Given the description of an element on the screen output the (x, y) to click on. 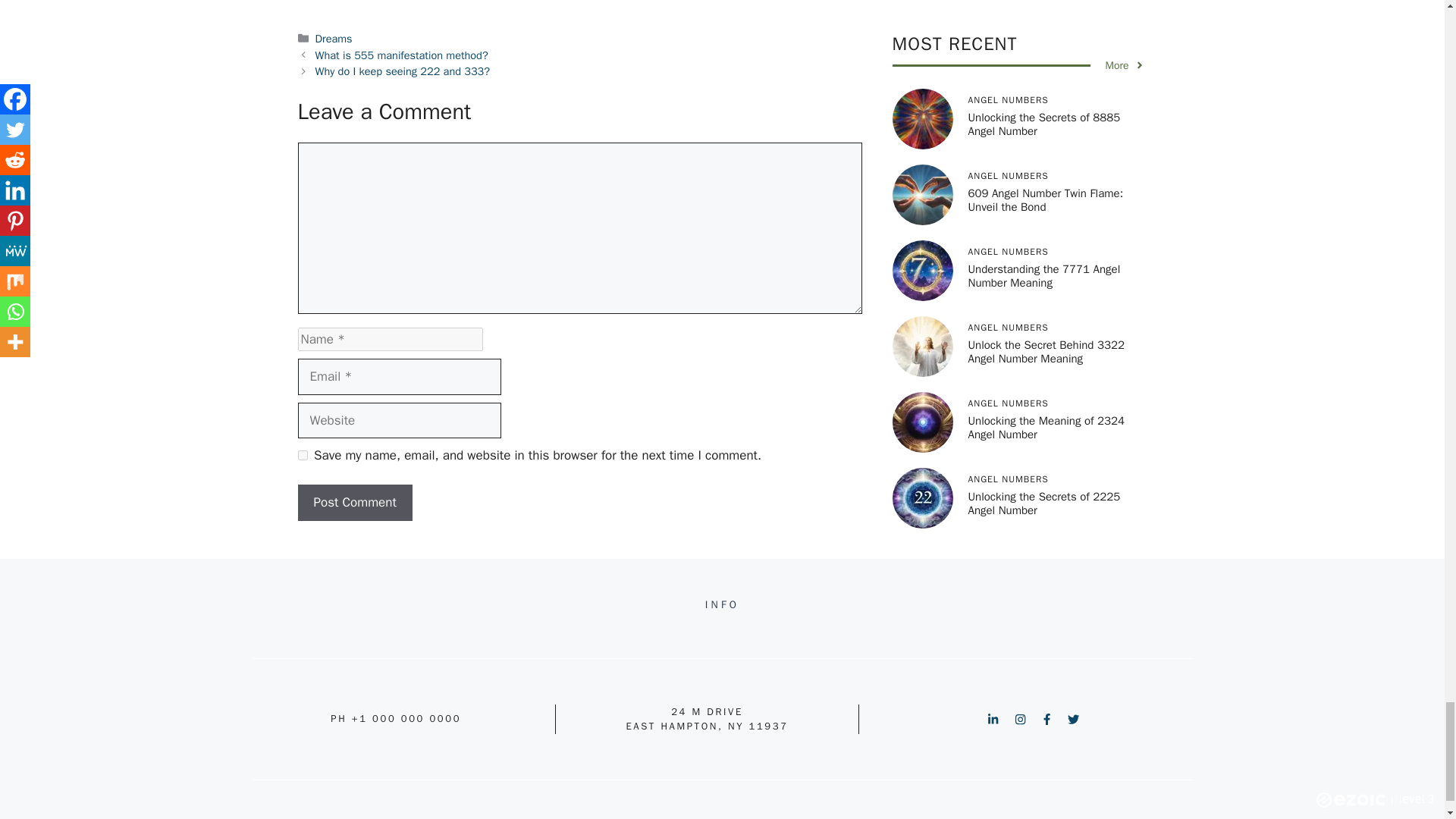
yes (302, 455)
Post Comment (354, 502)
